Given the description of an element on the screen output the (x, y) to click on. 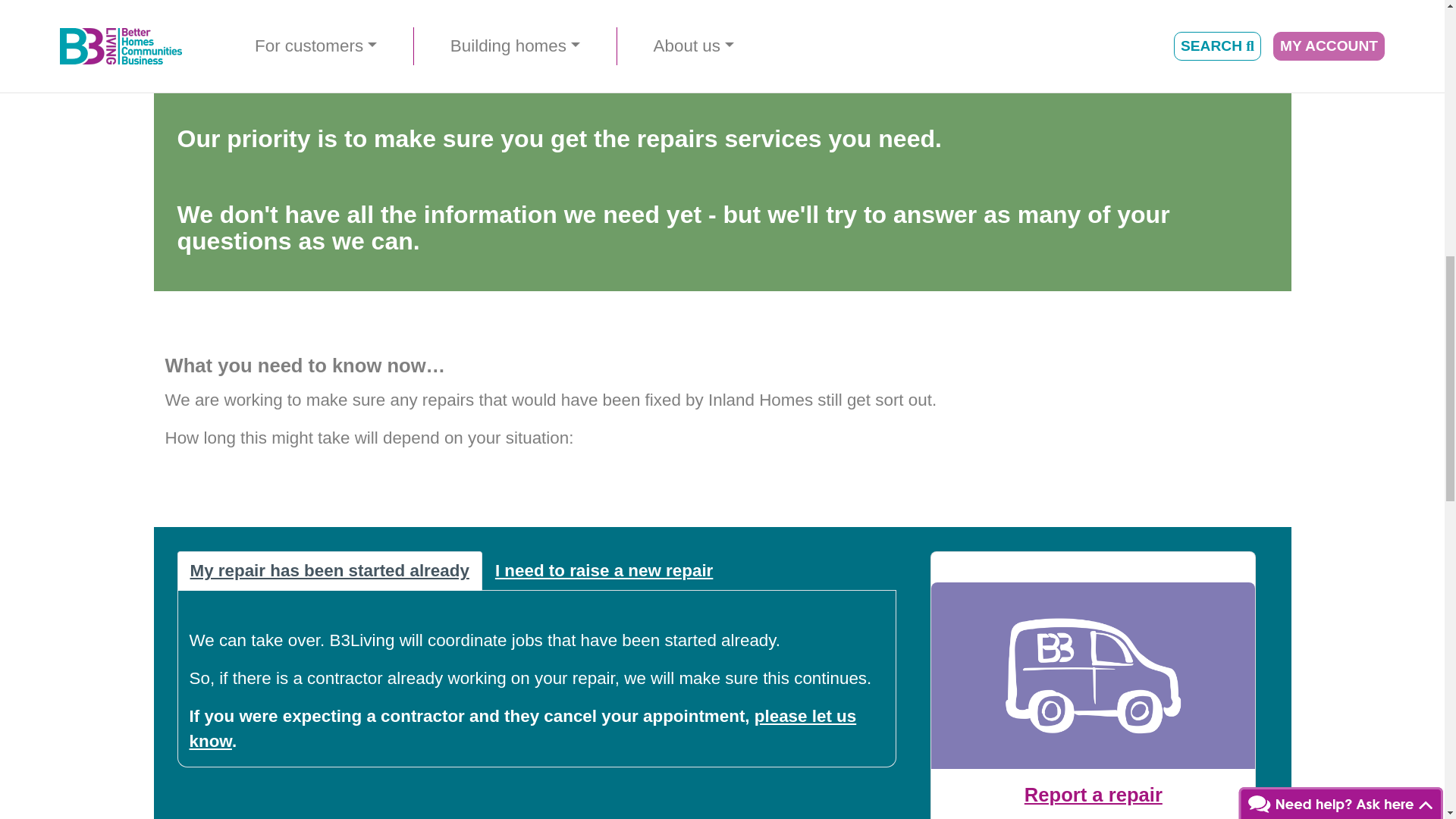
Contact us (523, 728)
